Given the description of an element on the screen output the (x, y) to click on. 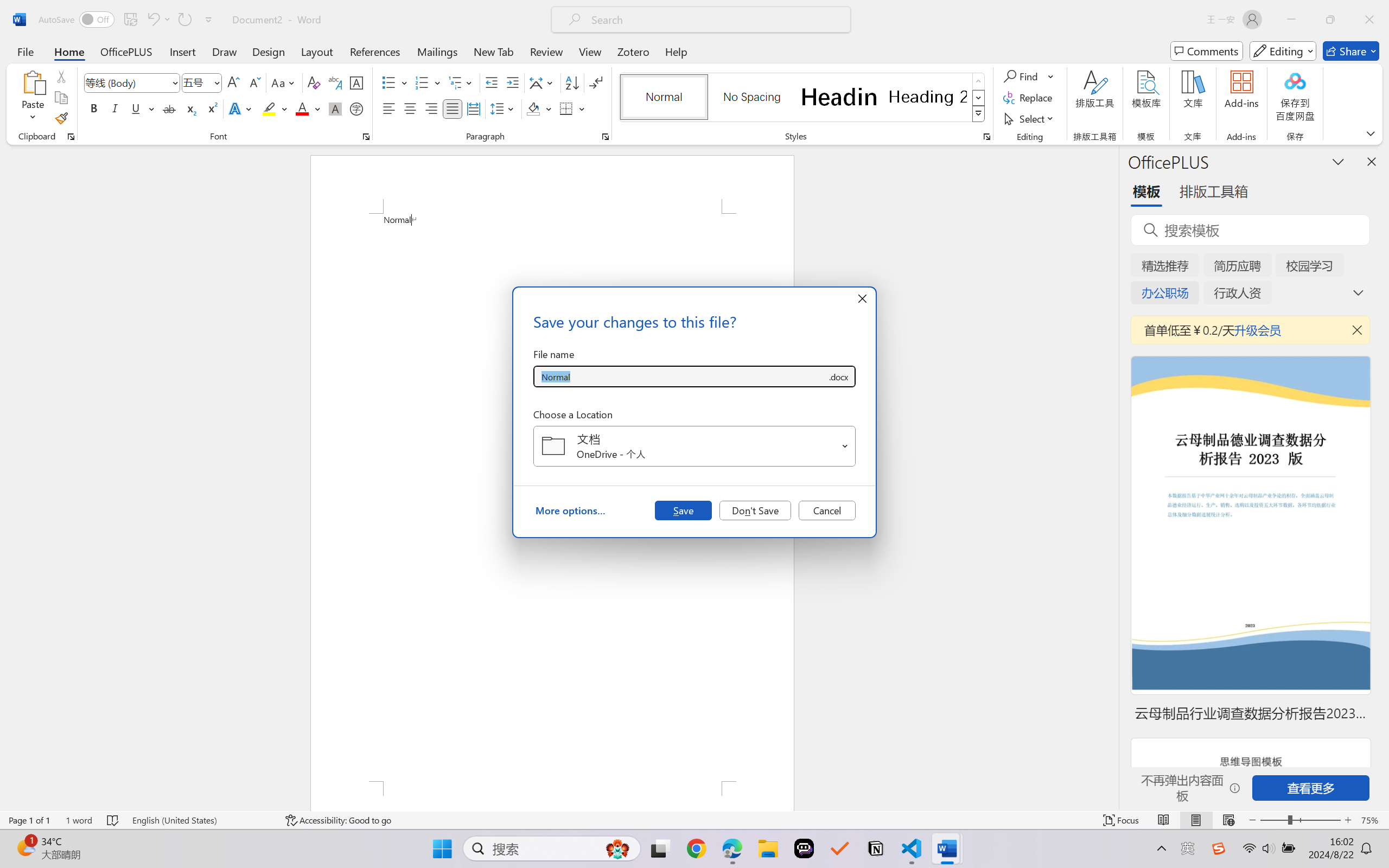
File name (680, 376)
Mailings (437, 51)
Align Right (431, 108)
Paste (33, 81)
Zoom (1300, 819)
Character Shading (334, 108)
Row up (978, 81)
Class: MsoCommandBar (694, 819)
Zoom Out (1273, 819)
